Given the description of an element on the screen output the (x, y) to click on. 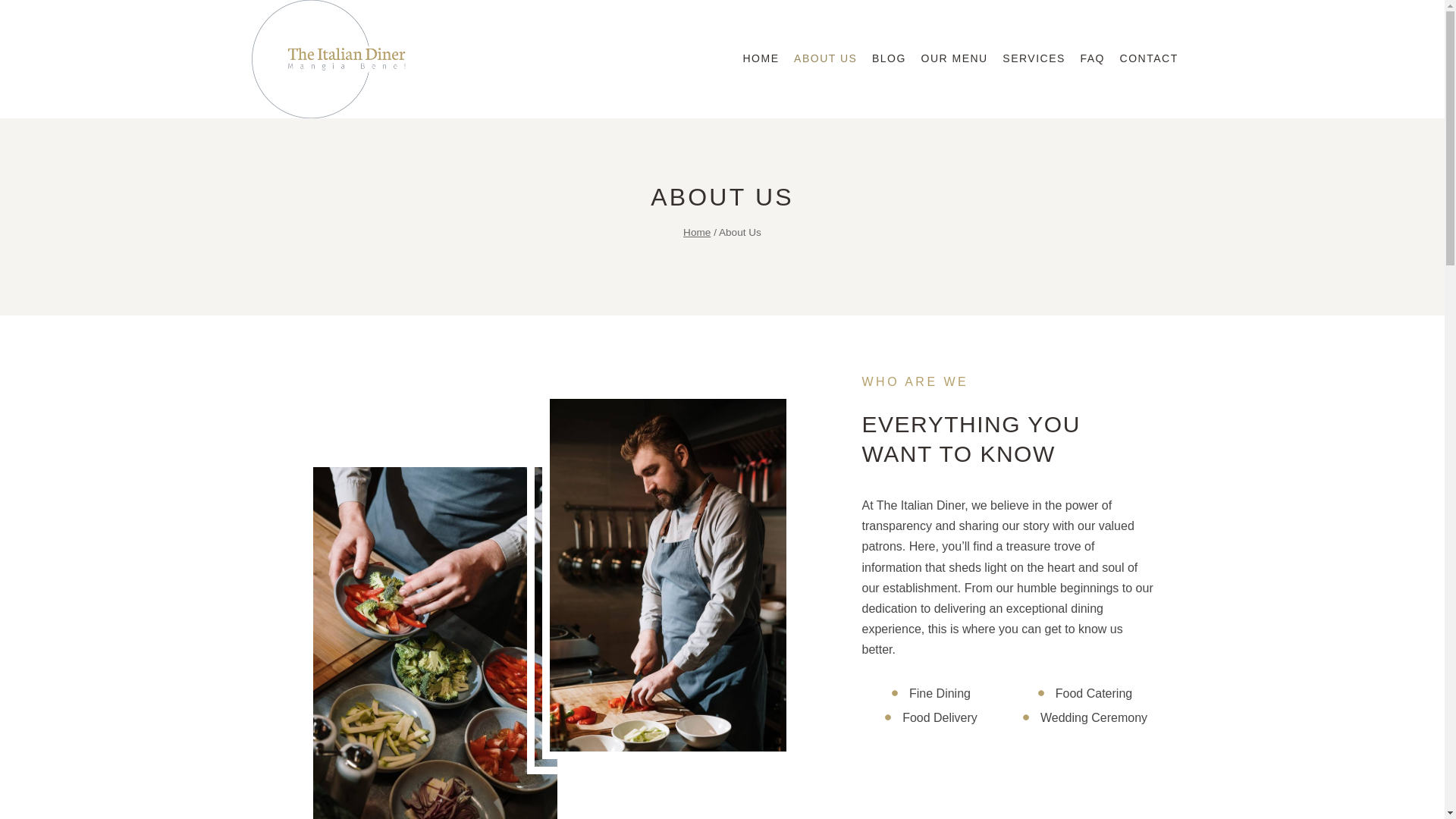
Home (696, 232)
BLOG (889, 59)
HOME (761, 59)
FAQ (1092, 59)
CONTACT (1149, 59)
OUR MENU (954, 59)
SERVICES (1034, 59)
ABOUT US (825, 59)
